Given the description of an element on the screen output the (x, y) to click on. 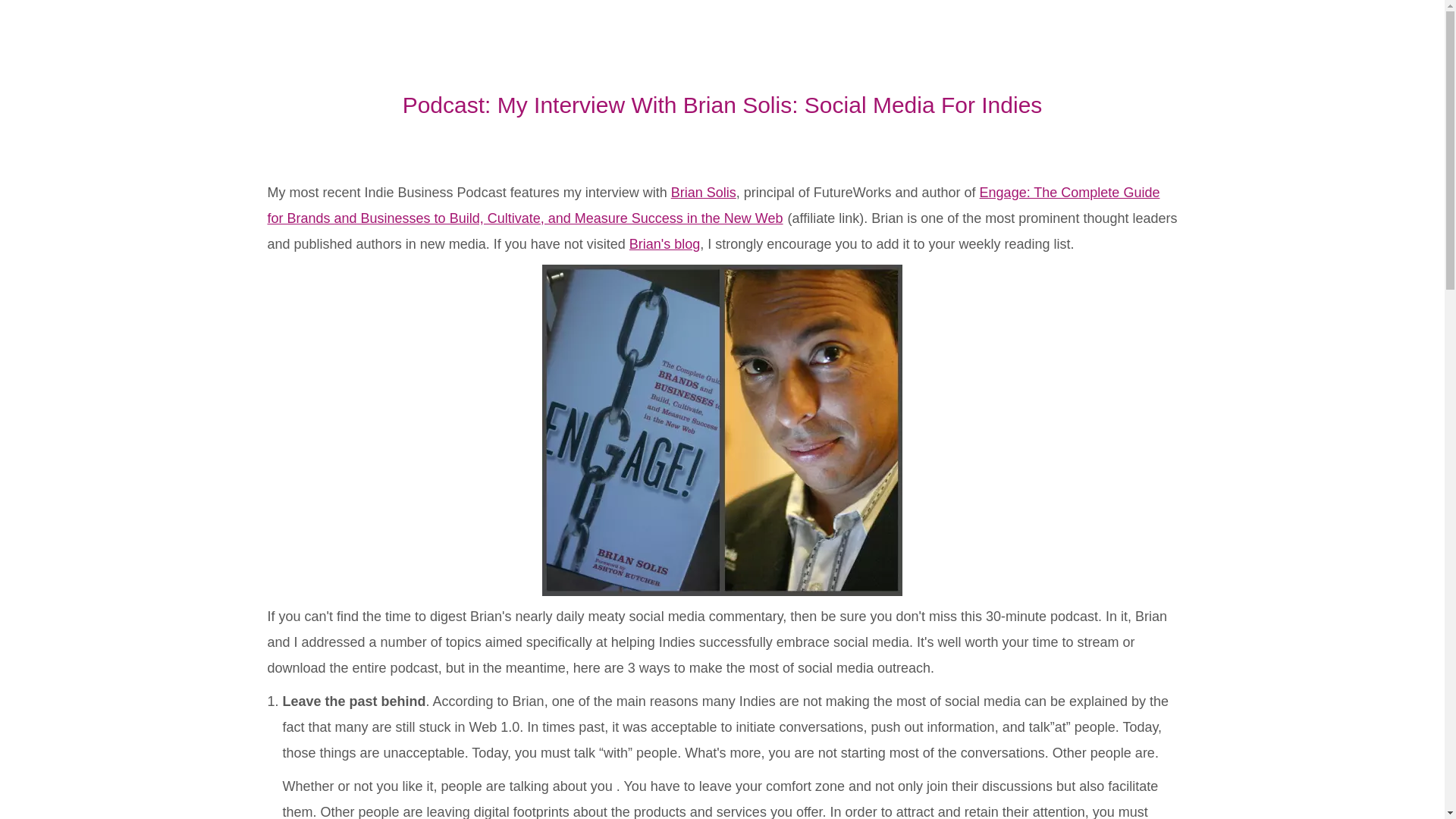
Go! (24, 16)
Engage and Brian Solis (721, 430)
Brian Solis (703, 192)
Brian's blog (664, 243)
